Given the description of an element on the screen output the (x, y) to click on. 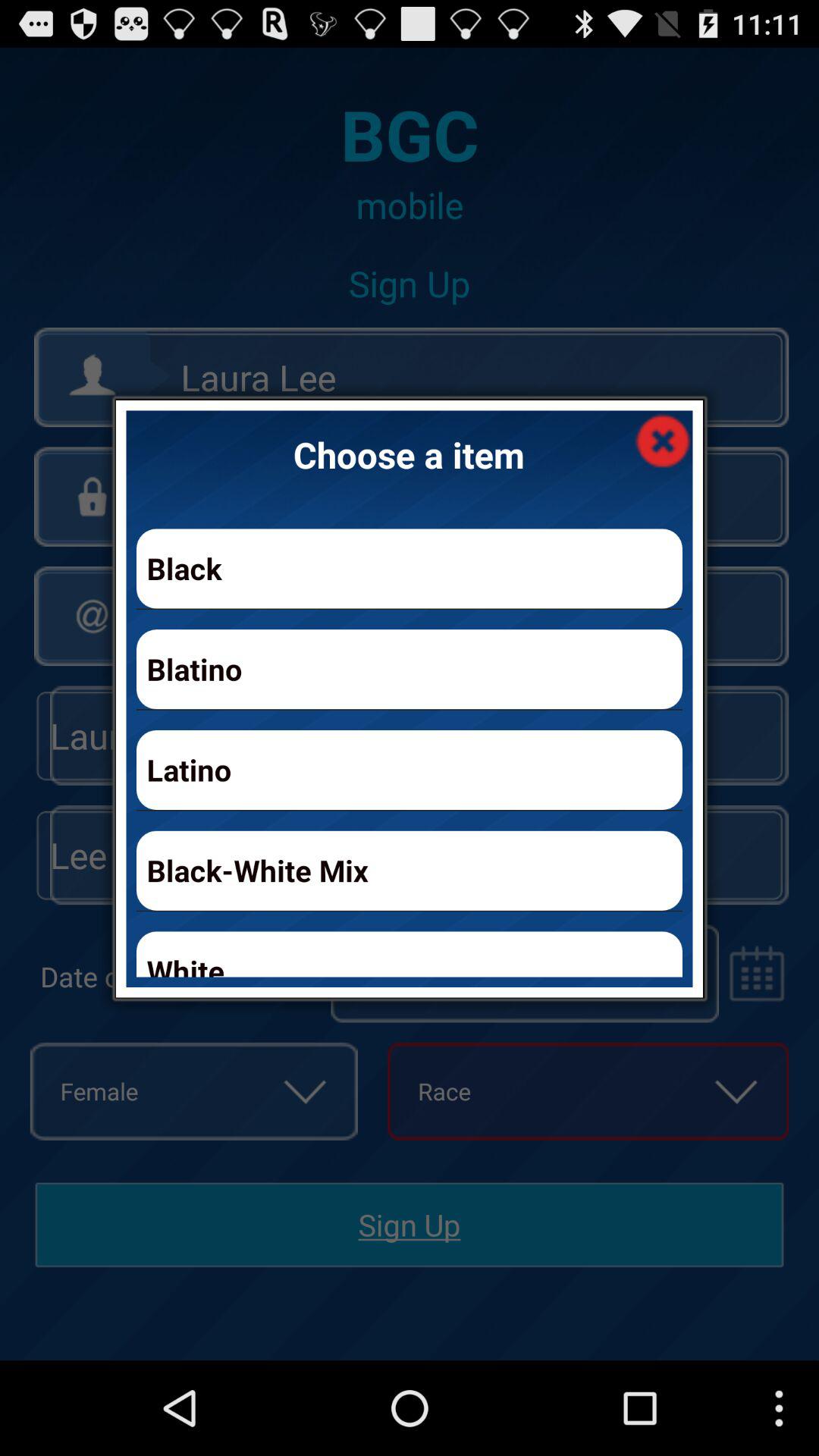
press item next to choose a item item (662, 440)
